Given the description of an element on the screen output the (x, y) to click on. 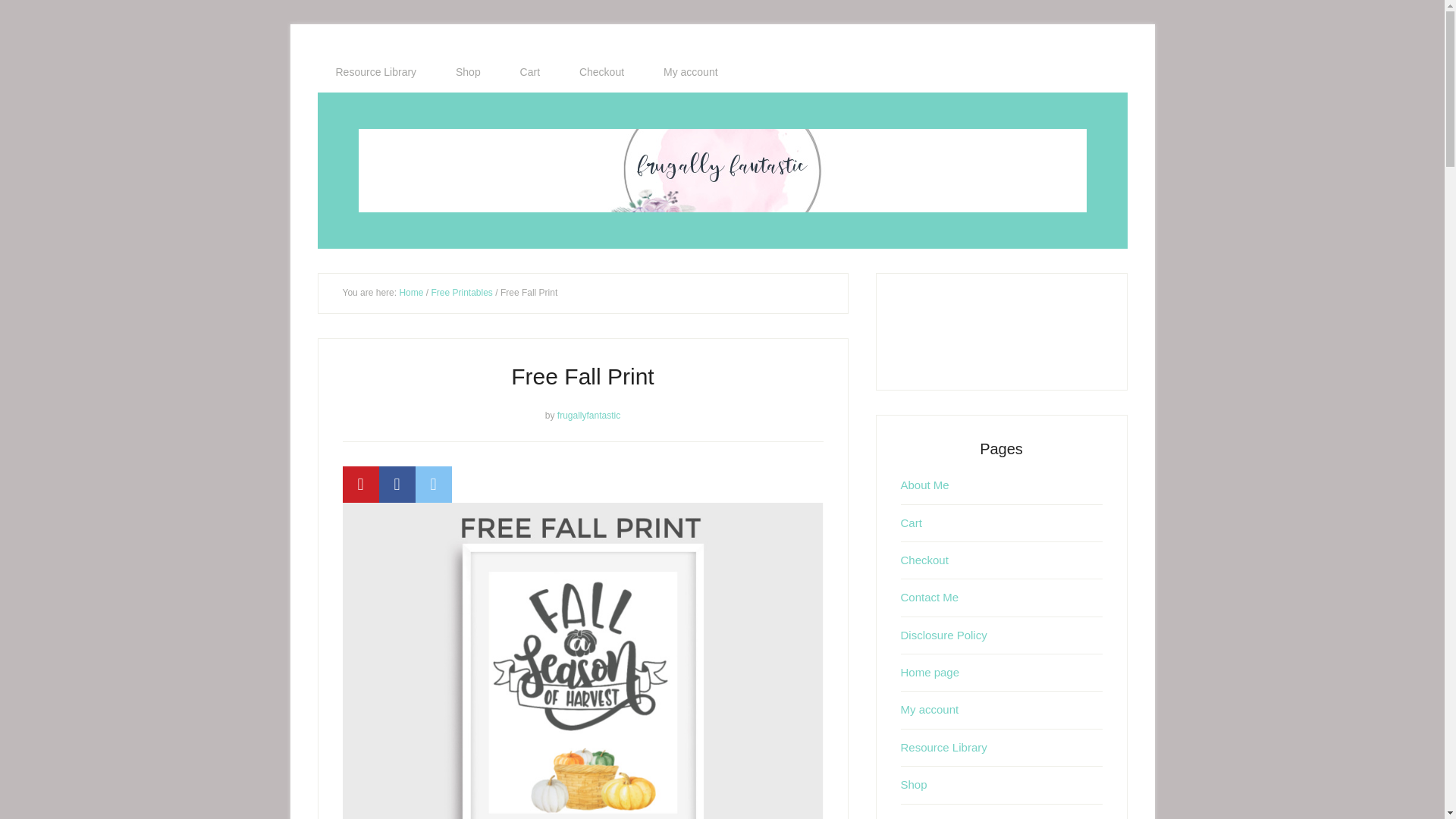
My account (690, 71)
Checkout (601, 71)
Cart (529, 71)
Disclosure Policy (944, 634)
Contact Me (930, 596)
About Me (925, 484)
Checkout (925, 559)
Shop (914, 784)
frugallyfantastic (588, 414)
Home (410, 292)
